Given the description of an element on the screen output the (x, y) to click on. 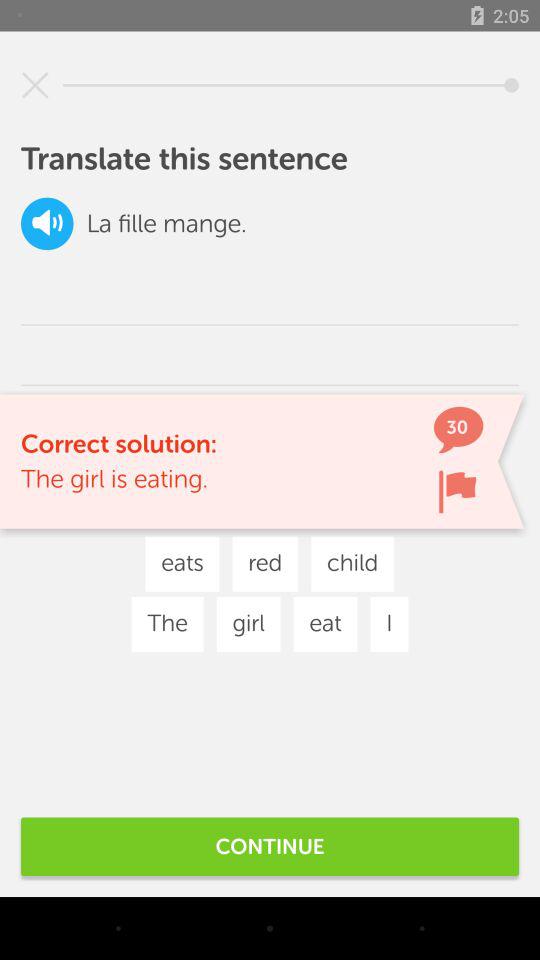
click close option (35, 85)
